Given the description of an element on the screen output the (x, y) to click on. 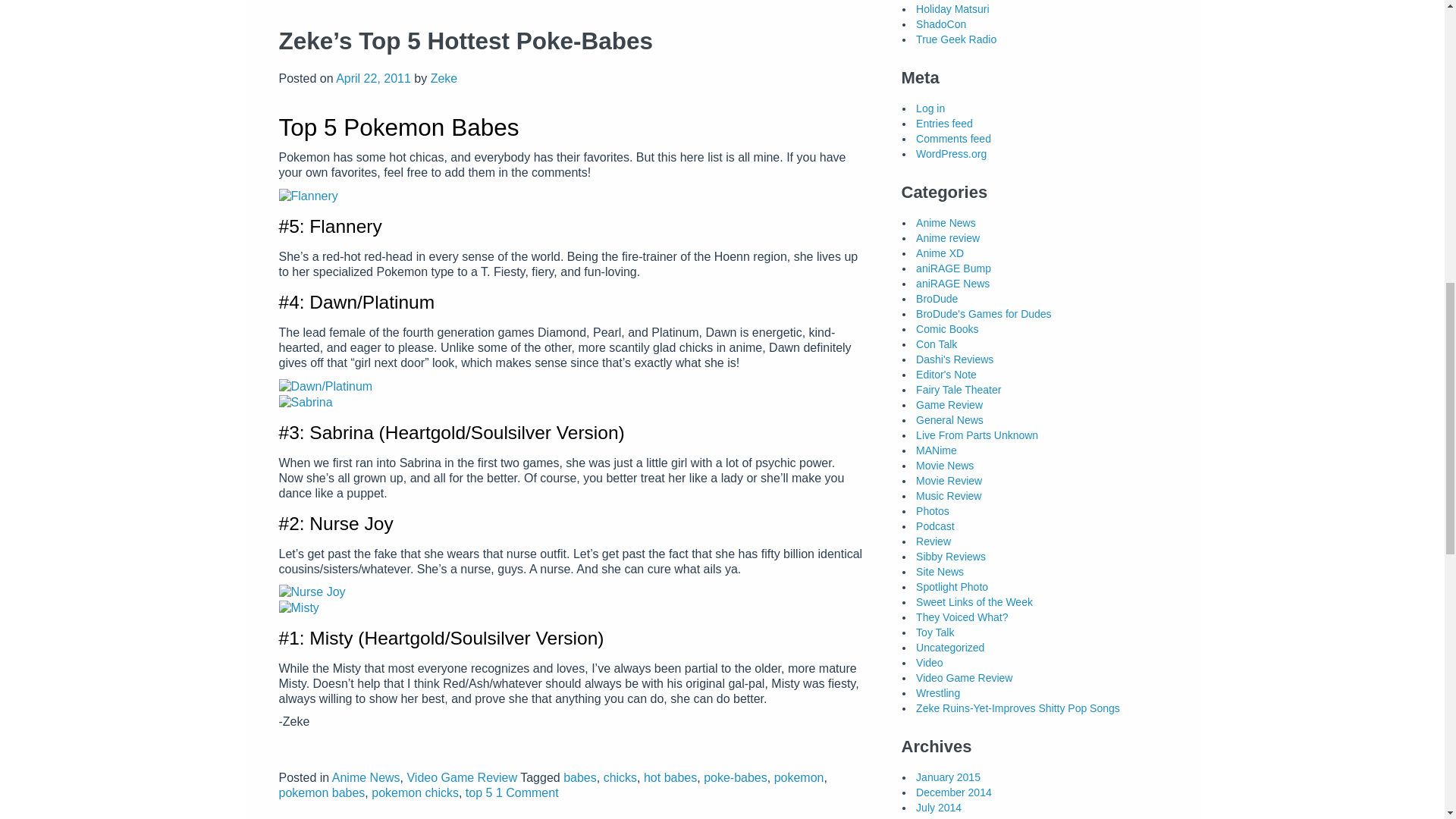
View all posts by Zeke (444, 78)
Anime News (365, 777)
April 22, 2011 (373, 78)
1:47 am (373, 78)
Zeke (444, 78)
